Given the description of an element on the screen output the (x, y) to click on. 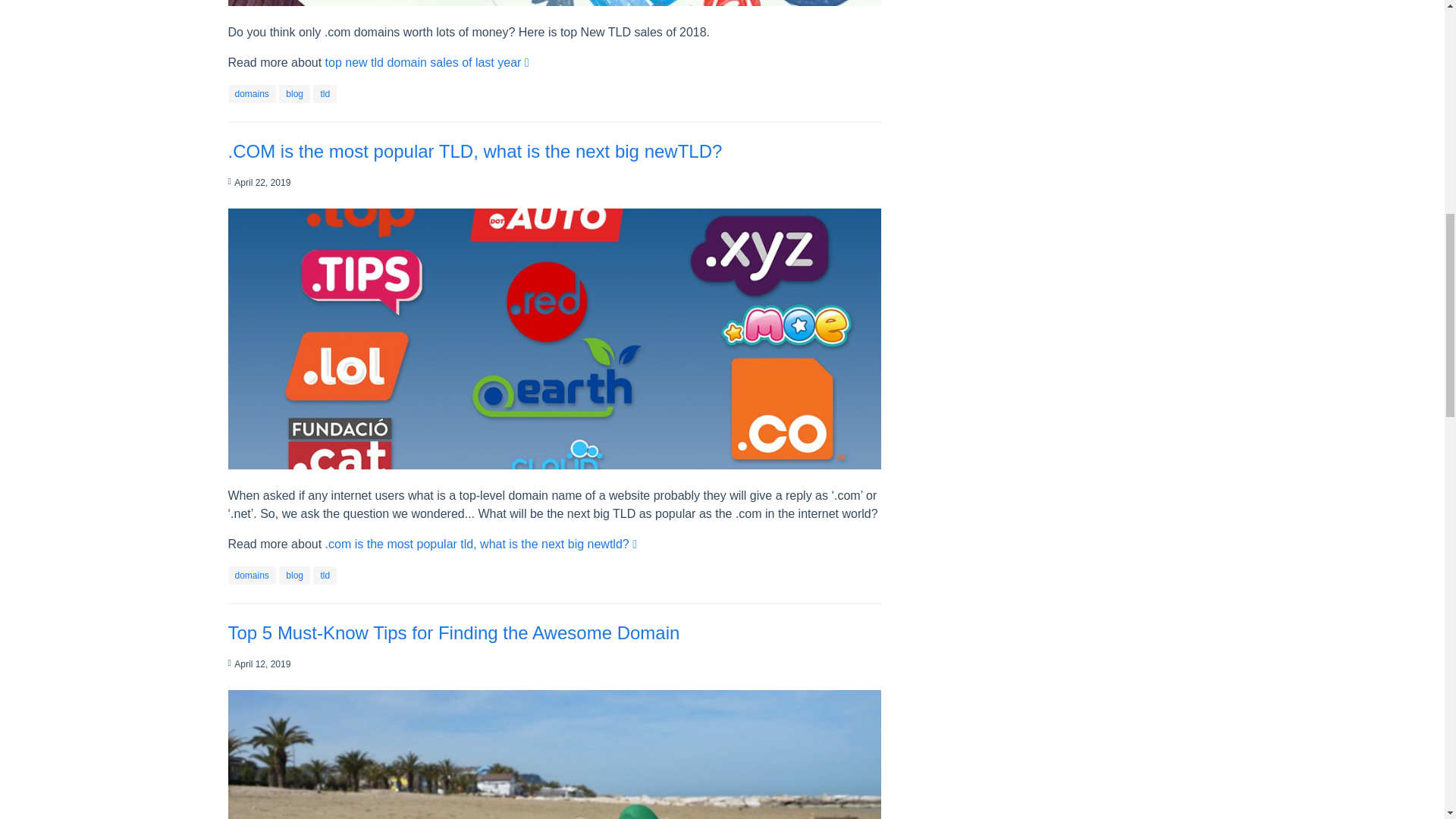
domains (251, 575)
.COM is the most popular TLD, what is the next big newTLD? (474, 150)
top new tld domain sales of last year (426, 62)
domains (251, 93)
blog (293, 93)
blog (293, 575)
.com is the most popular tld, what is the next big newtld? (480, 543)
Top 5 Must-Know Tips for Finding the Awesome Domain (453, 632)
